Given the description of an element on the screen output the (x, y) to click on. 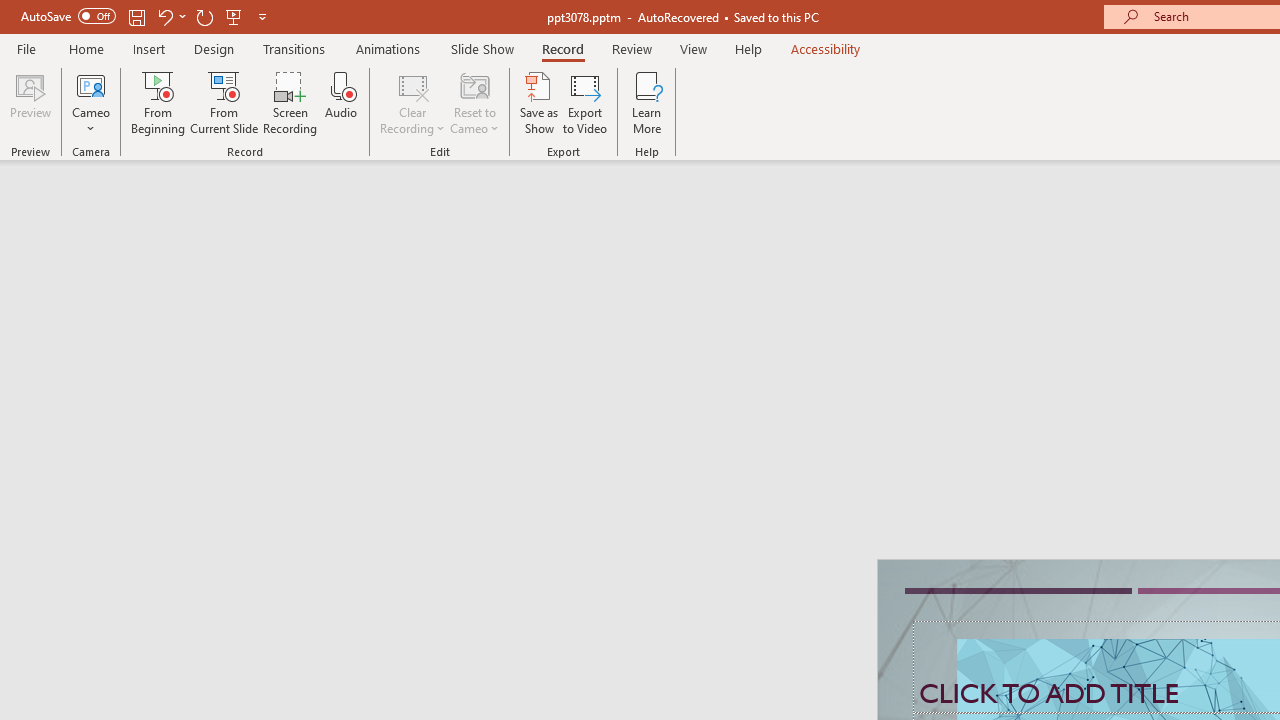
wangyian_dsw - DSW (42, 321)
Class: menubar compact overflow-menu-only (135, 322)
Close (Ctrl+F4) (946, 322)
Explorer Section: wangyian (331, 368)
Gmail (637, 138)
test.ipynb (864, 322)
